Given the description of an element on the screen output the (x, y) to click on. 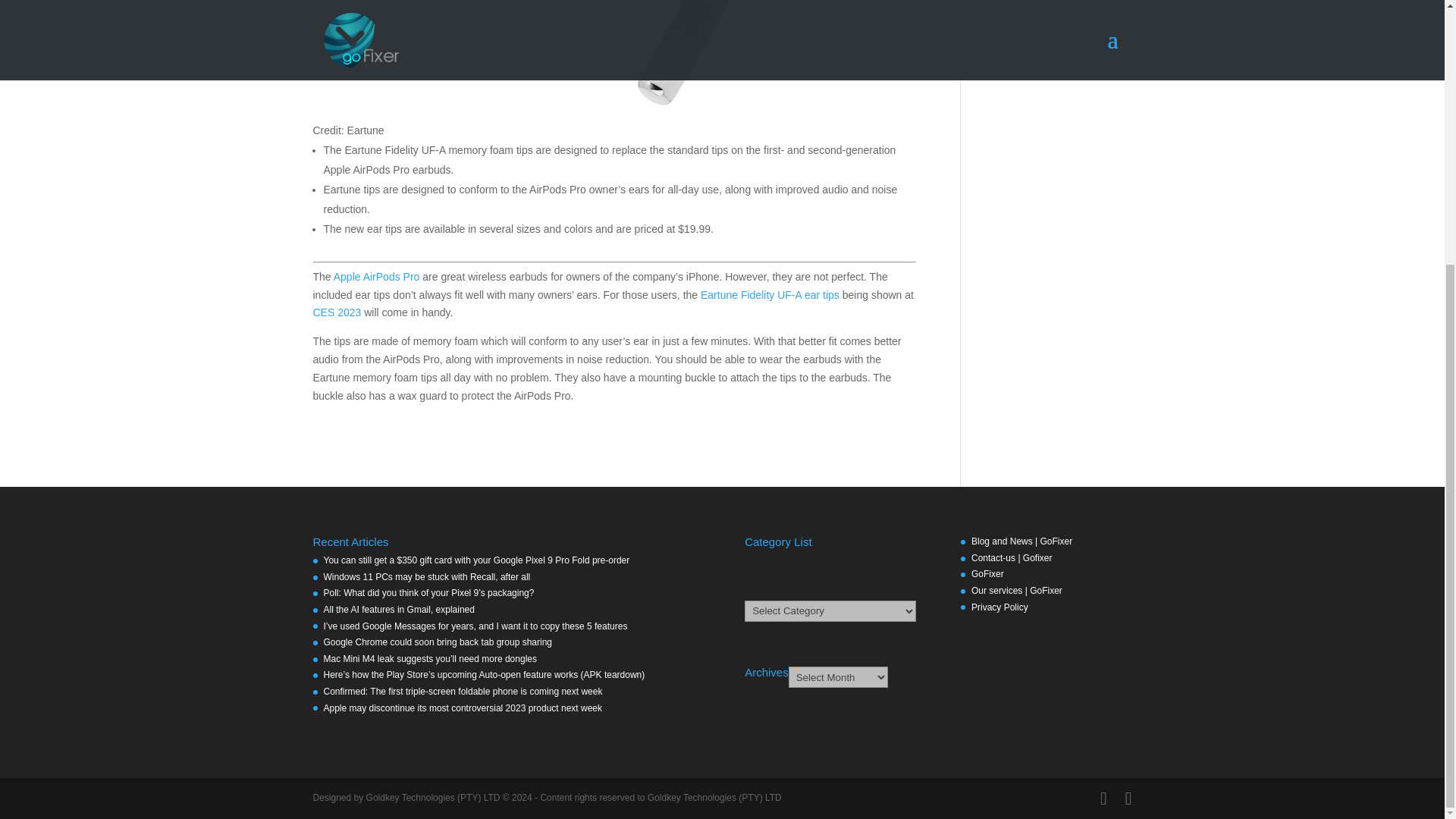
All the AI features in Gmail, explained (398, 609)
Google Chrome could soon bring back tab group sharing (437, 642)
eartunr airpod pro tips (614, 55)
Eartune Fidelity UF-A ear tips (770, 295)
Apple AirPods Pro (376, 276)
Privacy Policy (999, 606)
CES 2023 (337, 312)
Windows 11 PCs may be stuck with Recall, after all (426, 576)
GoFixer (987, 573)
